Given the description of an element on the screen output the (x, y) to click on. 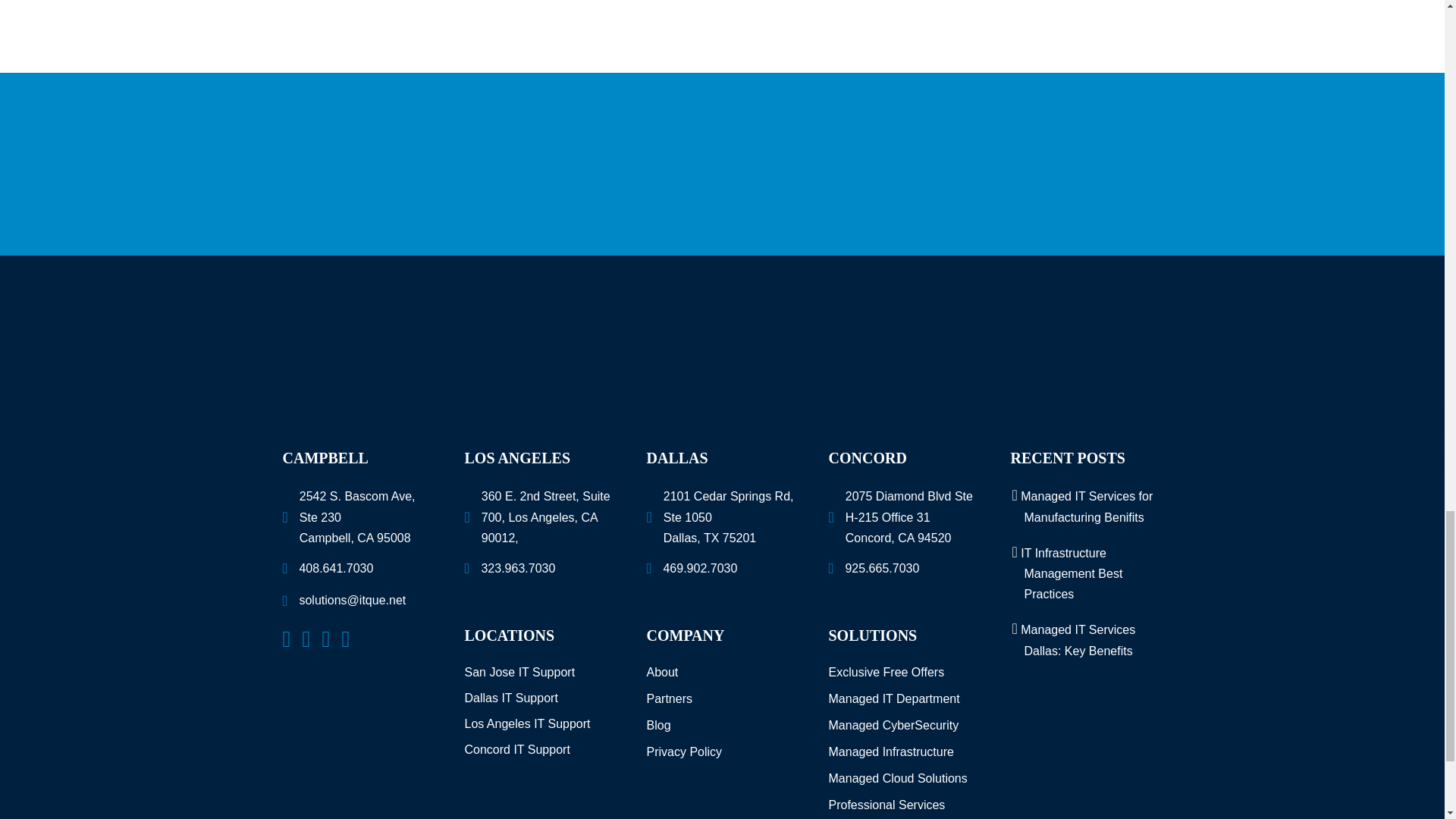
Managed IT Services for Manufacturing Benifits (1086, 506)
Managed IT Services Dallas: Key Benefits (1077, 639)
IT Infrastructure Management Best Practices (1071, 573)
ITque-logo-white (721, 357)
